Given the description of an element on the screen output the (x, y) to click on. 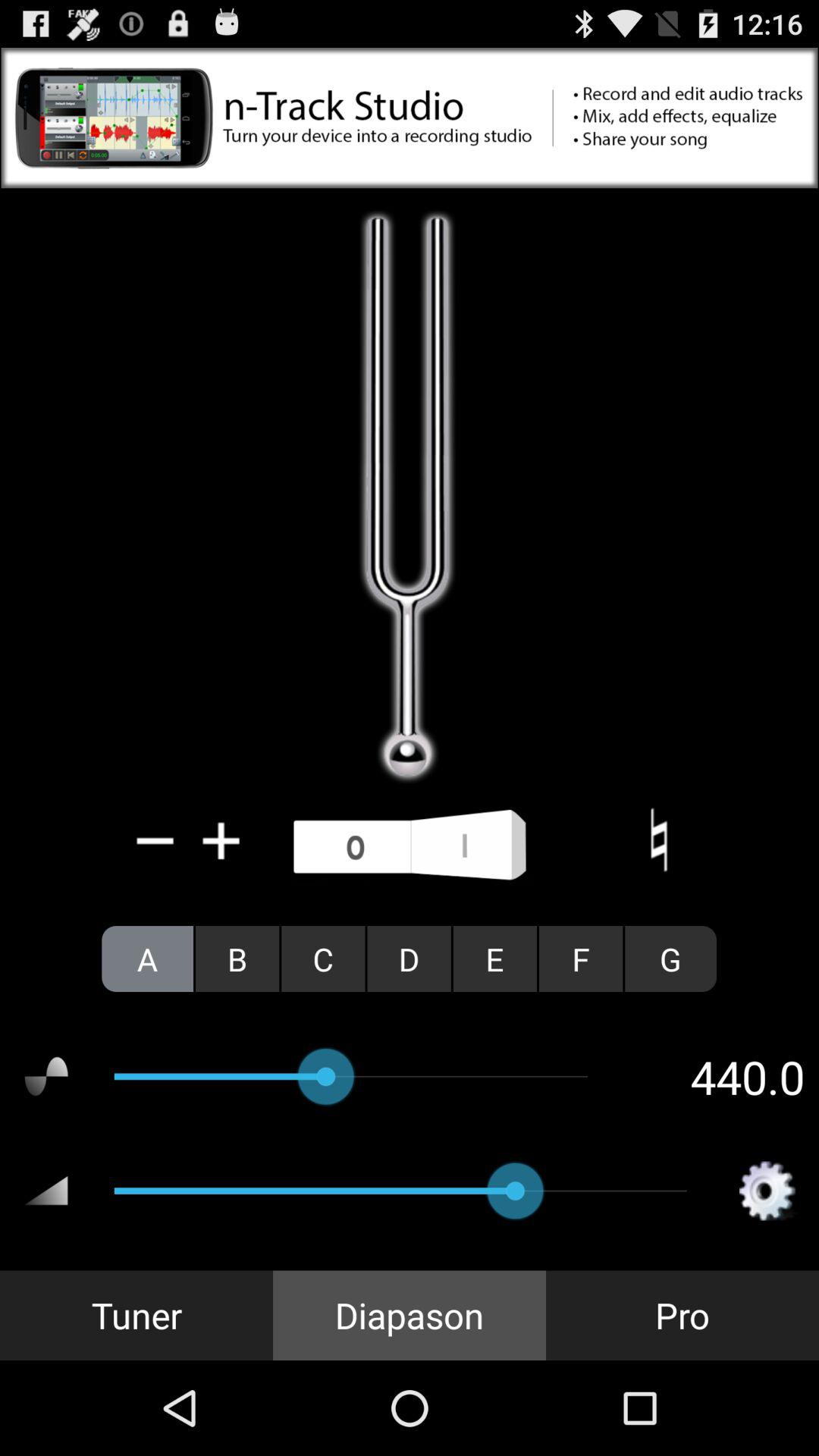
scroll until tuner icon (136, 1315)
